Given the description of an element on the screen output the (x, y) to click on. 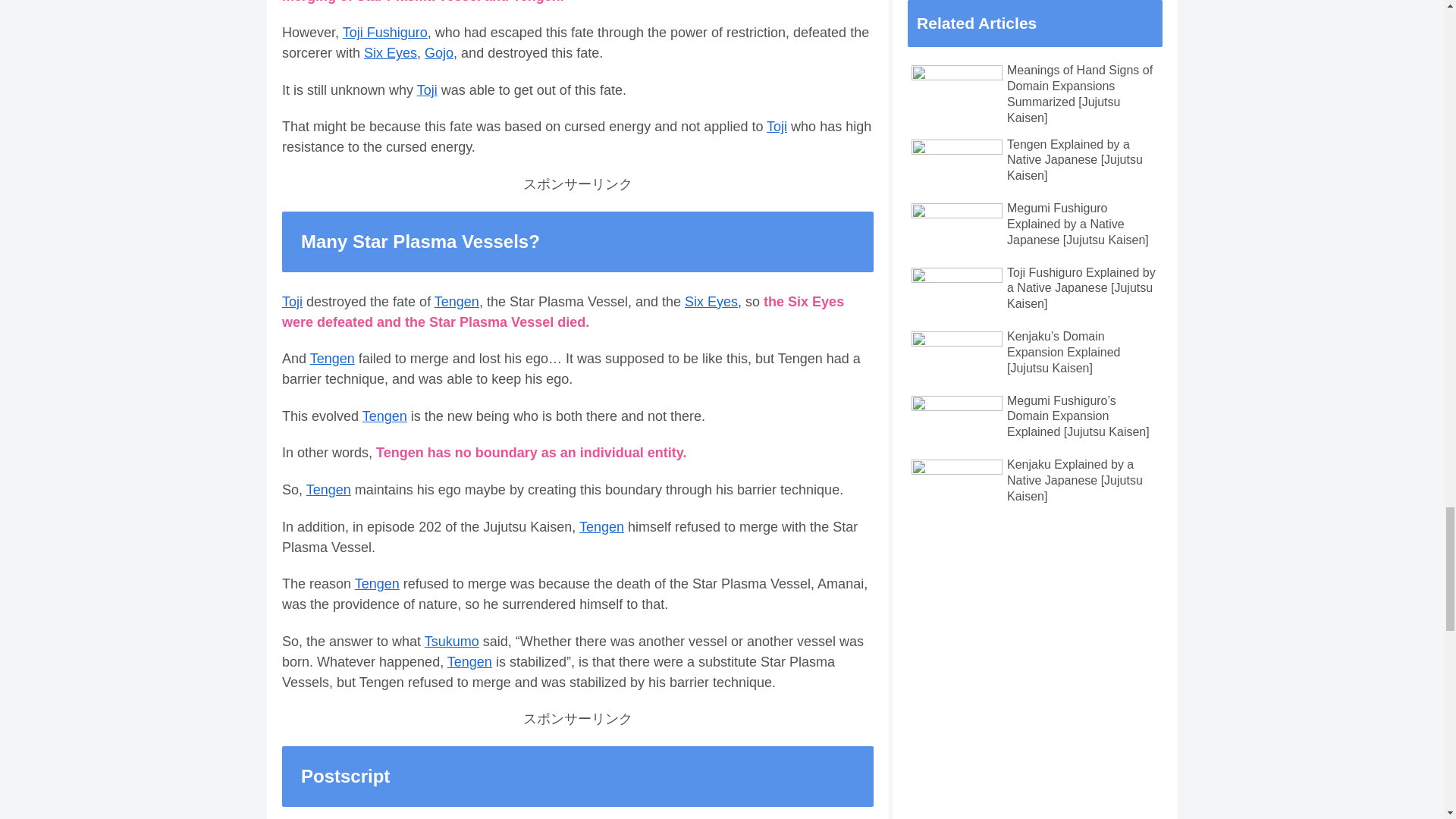
Tengen (456, 301)
Gojo (438, 52)
Toji (292, 301)
Toji Fushiguro (385, 32)
Toji (427, 89)
Six Eyes (390, 52)
Toji (777, 126)
